Given the description of an element on the screen output the (x, y) to click on. 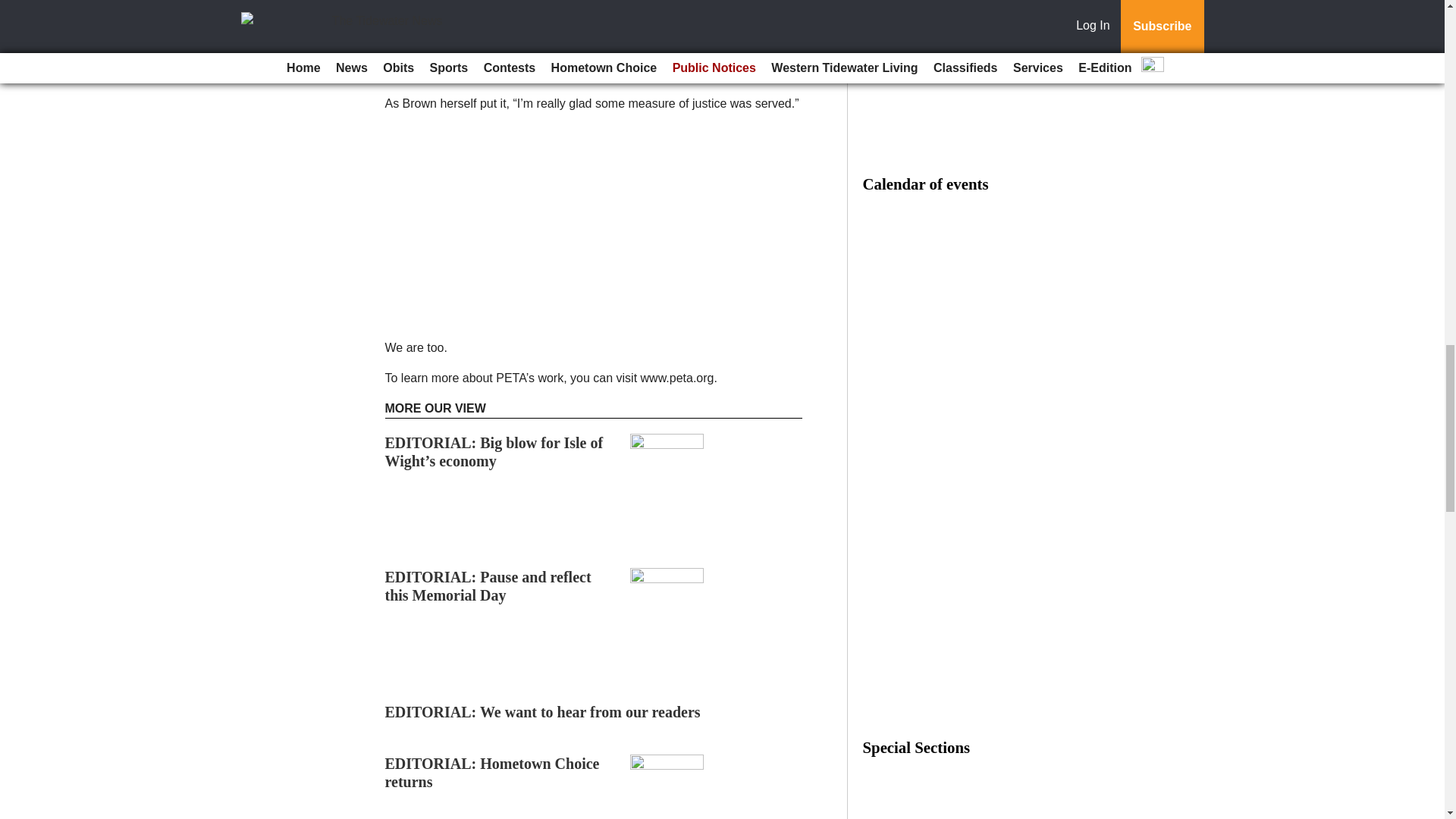
EDITORIAL: We want to hear from our readers (542, 711)
EDITORIAL: We want to hear from our readers (542, 711)
EDITORIAL: Pause and reflect this Memorial Day (488, 585)
EDITORIAL: Pause and reflect this Memorial Day (488, 585)
EDITORIAL: Hometown Choice returns (492, 772)
